Given the description of an element on the screen output the (x, y) to click on. 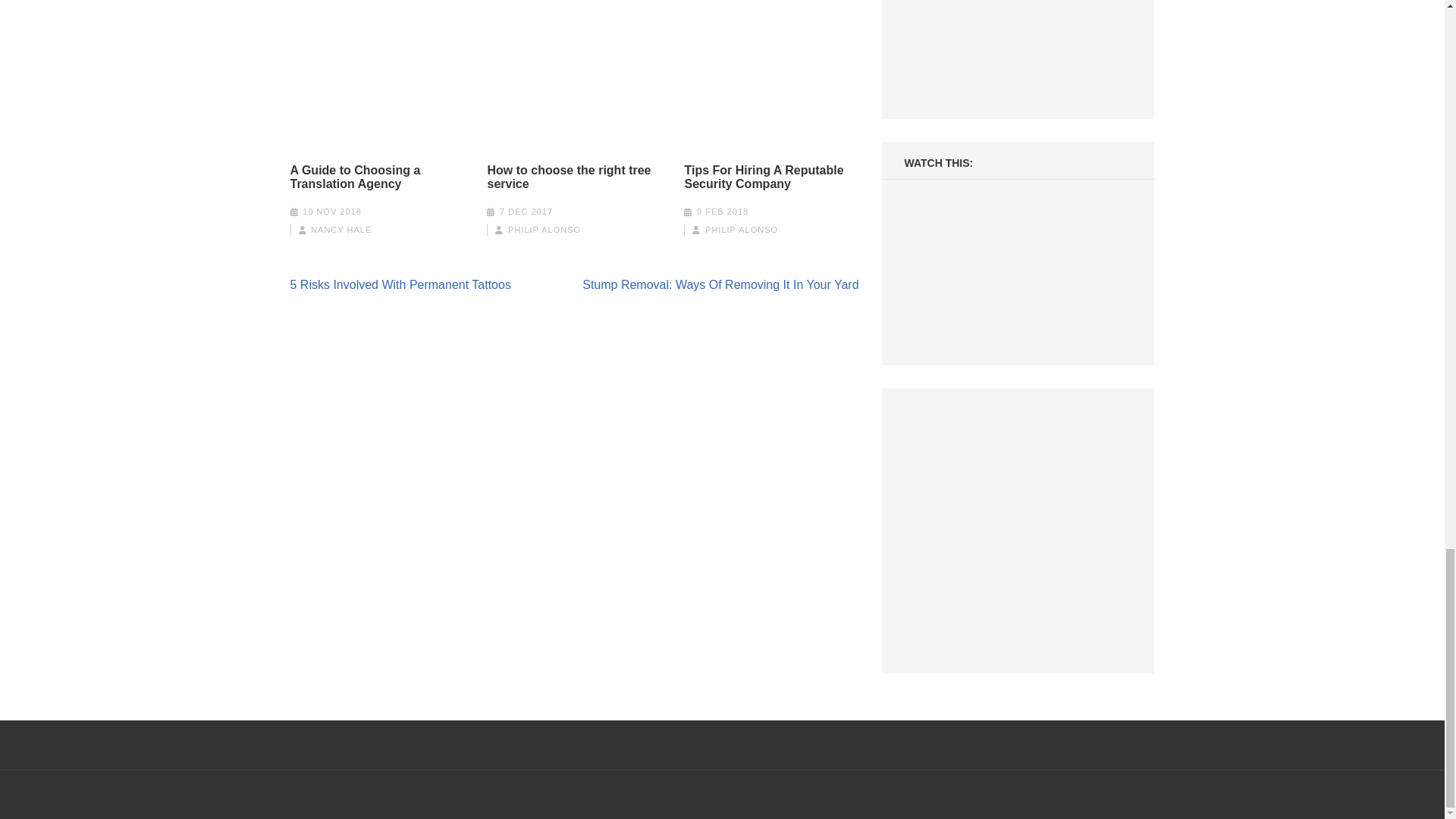
5 Risks Involved With Permanent Tattoos (400, 284)
PHILIP ALONSO (740, 229)
Tips For Hiring A Reputable Security Company (771, 176)
7 DEC 2017 (526, 211)
How to choose the right tree service (573, 176)
A Guide to Choosing a Translation Agency (376, 176)
9 FEB 2018 (722, 211)
Stump Removal: Ways Of Removing It In Your Yard (720, 284)
PHILIP ALONSO (544, 229)
NANCY HALE (341, 229)
